Given the description of an element on the screen output the (x, y) to click on. 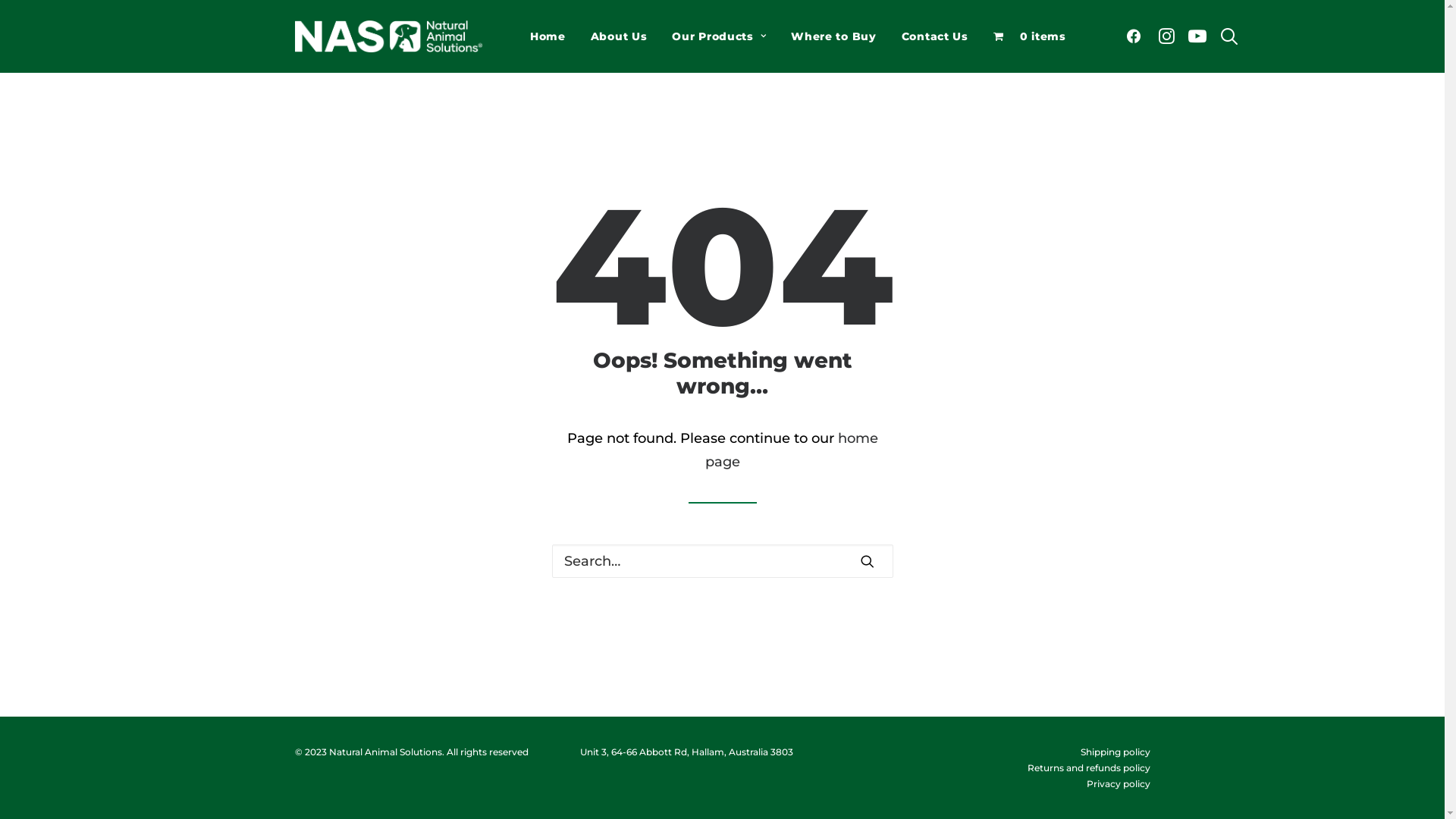
Contact Us Element type: text (935, 36)
Where to Buy Element type: text (833, 36)
Returns and refunds policy Element type: text (1087, 767)
About Us Element type: text (619, 36)
Our Products Element type: text (718, 36)
home page Element type: text (791, 449)
Privacy policy Element type: text (1117, 783)
Search for: Element type: hover (722, 560)
Shipping policy Element type: text (1114, 751)
0 items Element type: text (1029, 36)
Home Element type: text (547, 36)
